Given the description of an element on the screen output the (x, y) to click on. 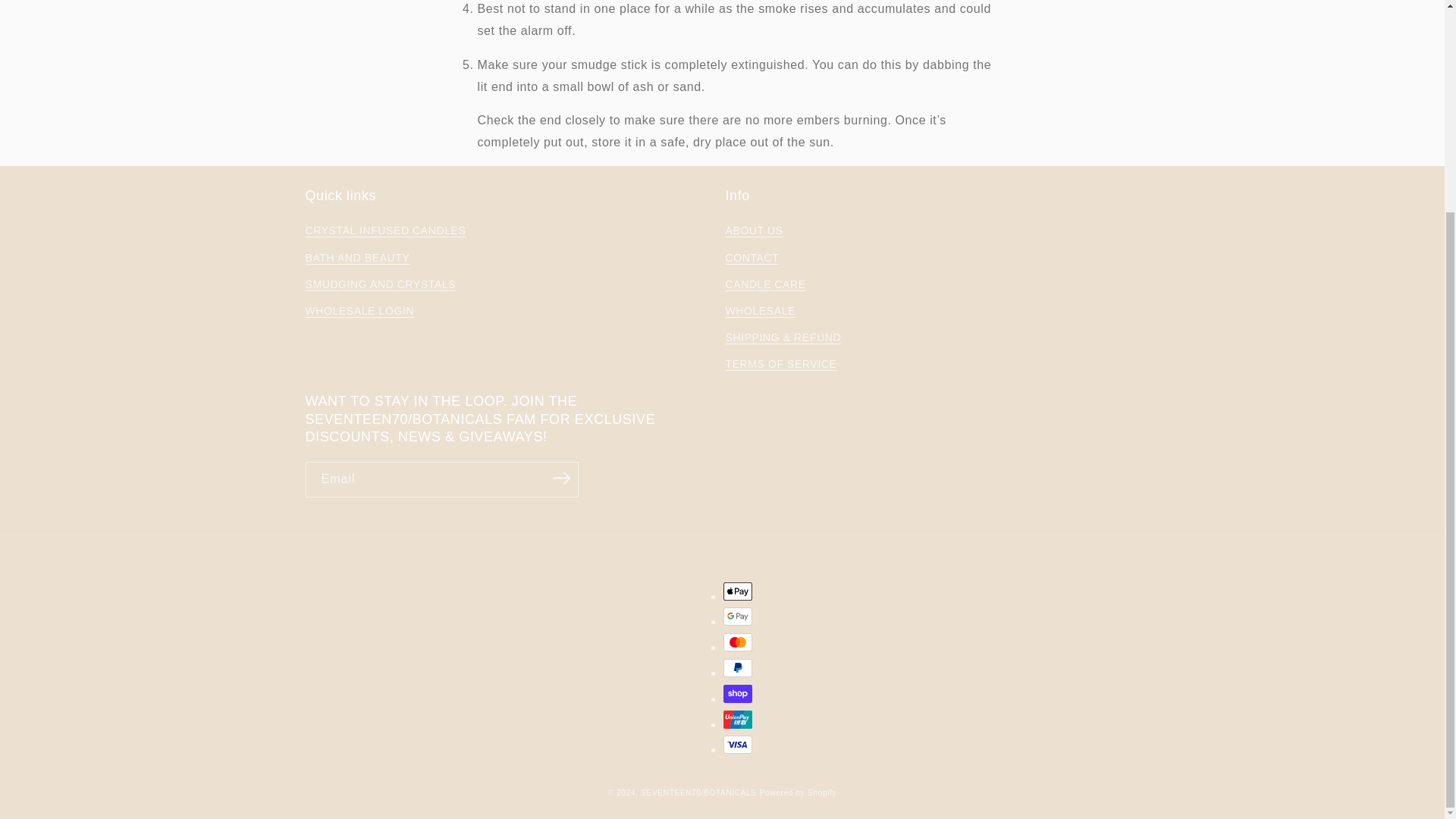
Mastercard (737, 642)
Google Pay (737, 616)
CRYSTAL INFUSED CANDLES (384, 232)
Apple Pay (737, 591)
PayPal (737, 668)
Shop Pay (737, 693)
Union Pay (737, 719)
Visa (737, 744)
